Given the description of an element on the screen output the (x, y) to click on. 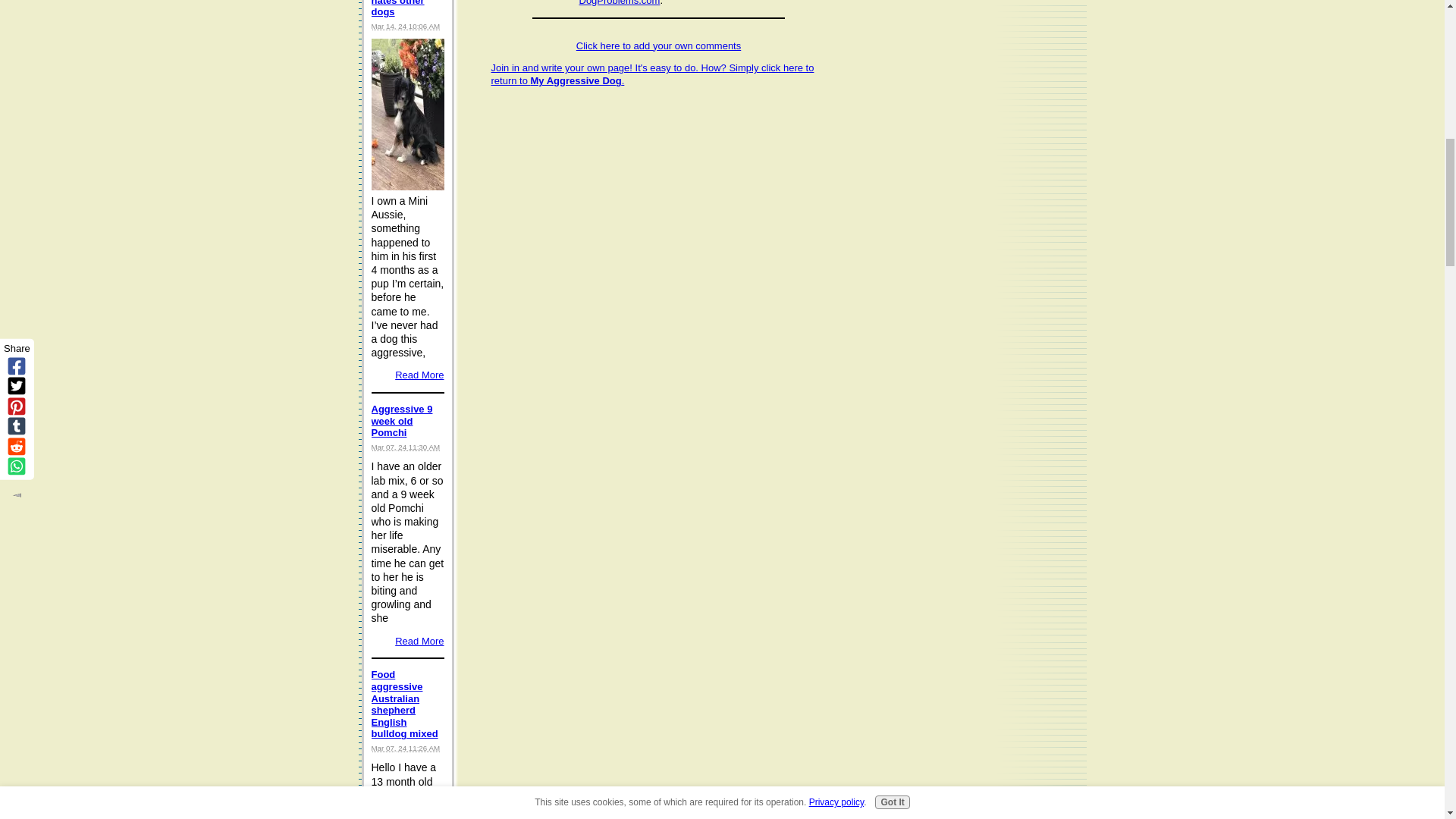
Click here to add your own comments (658, 44)
2024-03-14T10:06:50-0400 (406, 26)
Dog Problems (620, 2)
2024-03-07T11:30:33-0500 (406, 447)
My Aussie hates hates hates other dogs (398, 9)
DogProblems.com (620, 2)
2024-03-07T11:26:13-0500 (406, 747)
